Given the description of an element on the screen output the (x, y) to click on. 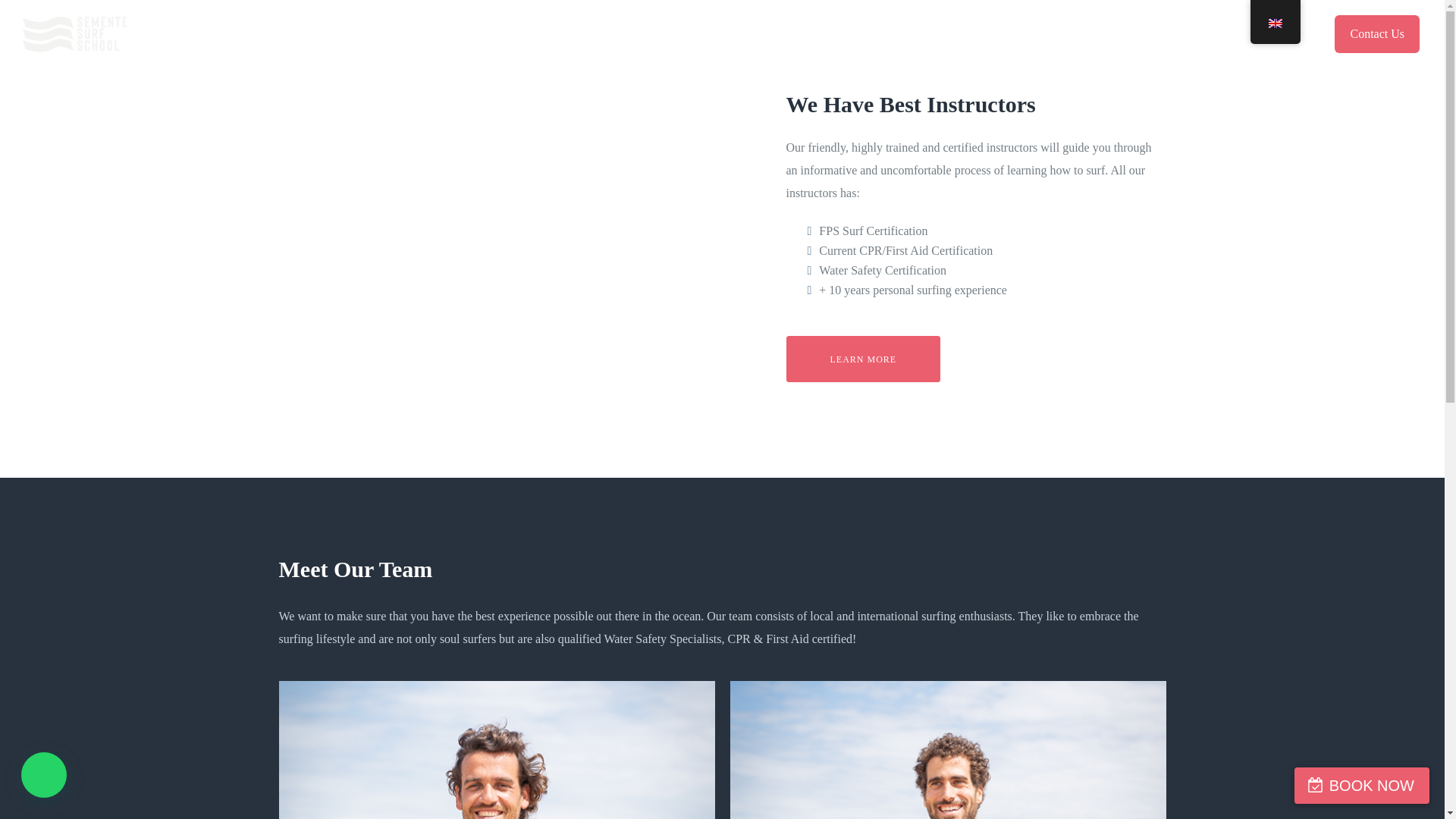
Contact Us (1377, 34)
About Us (680, 34)
LEARN MORE (863, 358)
Mission (863, 358)
Mission (606, 34)
Contacts (823, 34)
Our Team (753, 34)
